Given the description of an element on the screen output the (x, y) to click on. 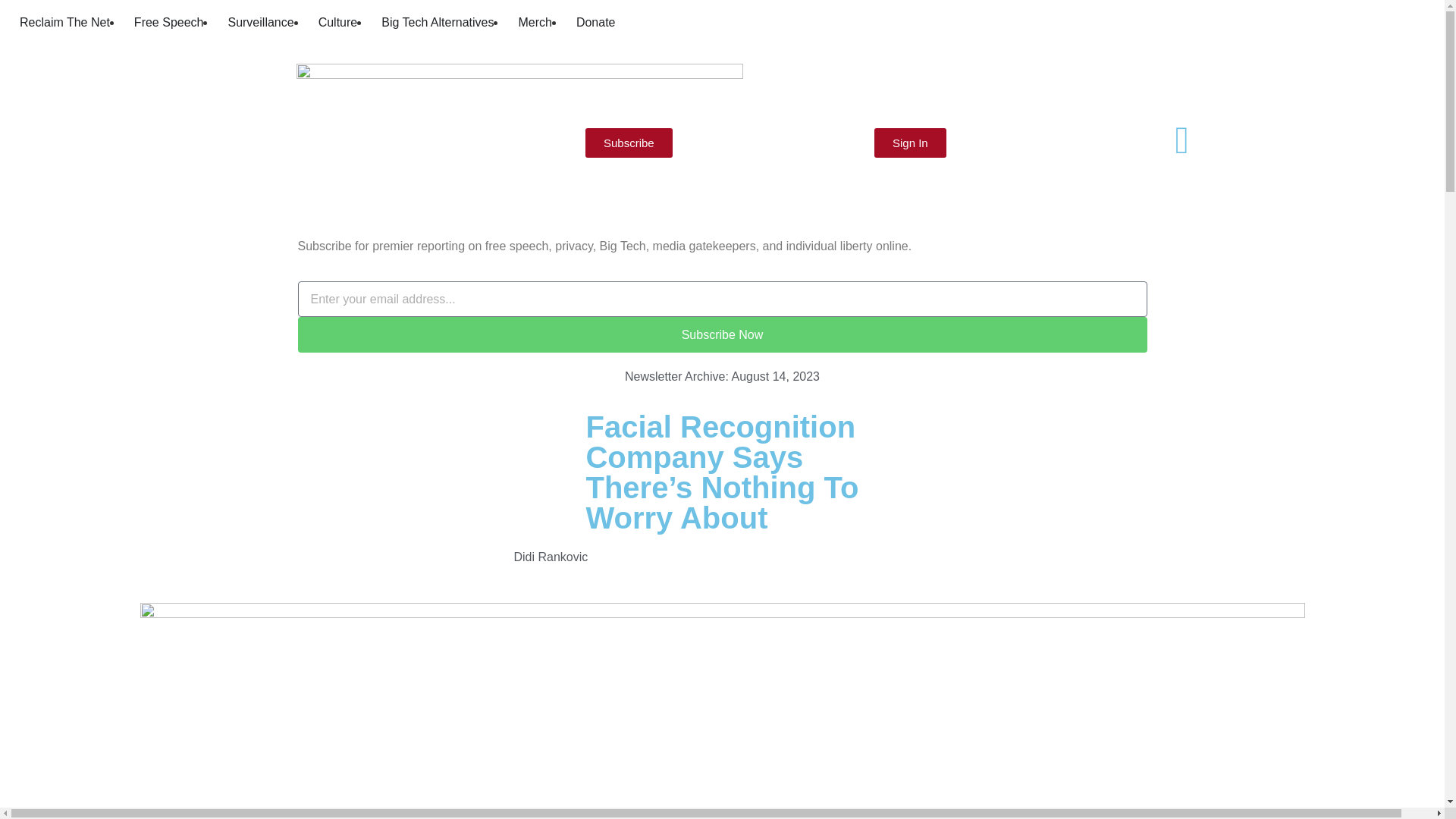
Didi Rankovic (550, 556)
Subscribe Now (722, 334)
Subscribe (628, 142)
Culture (338, 22)
Surveillance (260, 22)
Free Speech (168, 22)
Sign In (910, 142)
Merch (534, 22)
Reclaim The Net (65, 22)
Donate (595, 22)
Big Tech Alternatives (437, 22)
